Given the description of an element on the screen output the (x, y) to click on. 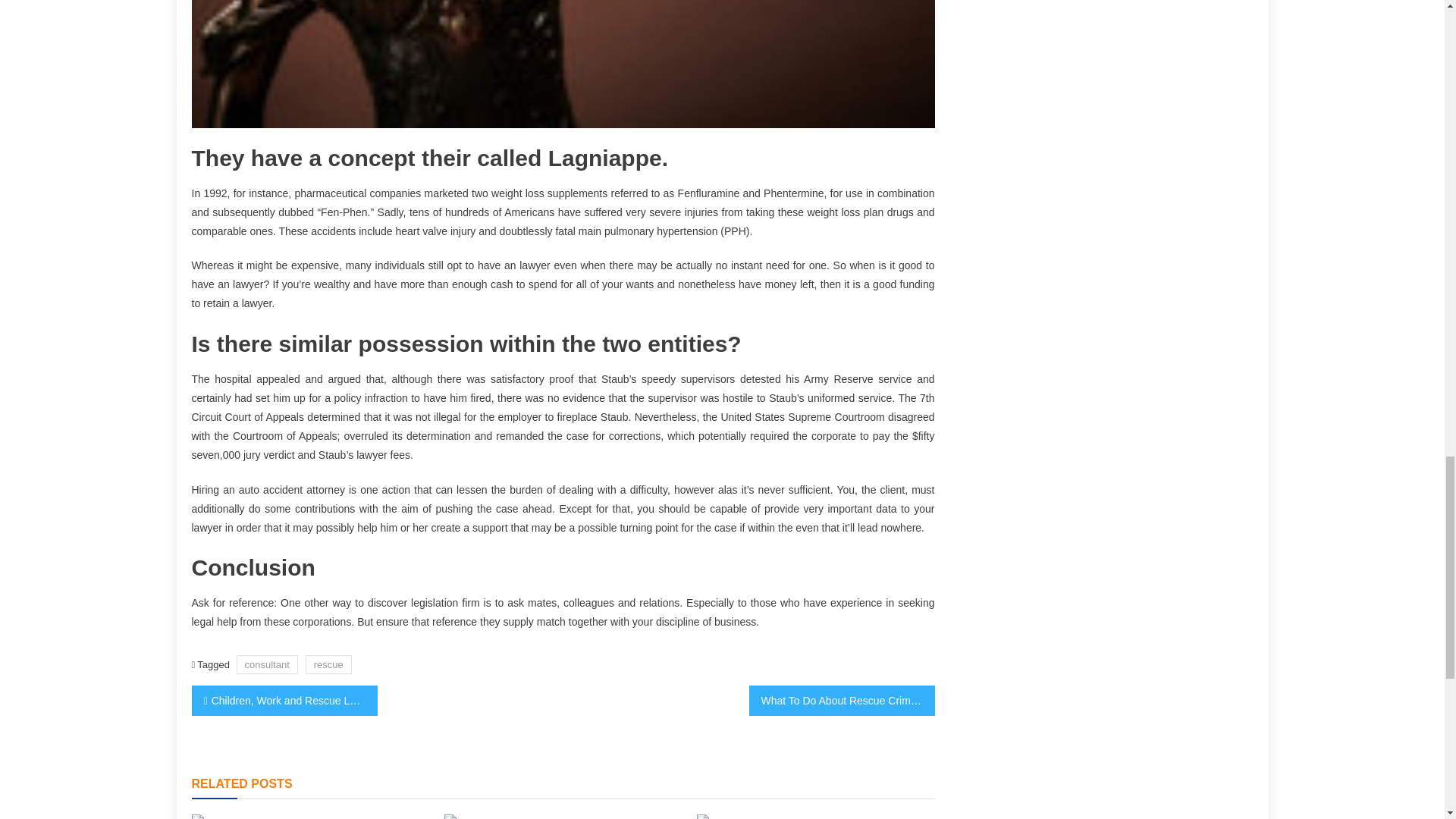
rescue (328, 664)
What To Do About Rescue Criminal Law Before It is Too Late (841, 700)
The Facts About Rescue Law Firm Conservative Attorney (239, 816)
consultant (266, 664)
5 Easy Details About Saving Law Firm Independence Explained (744, 816)
Children, Work and Rescue Law Firm Conservative Attorney (283, 700)
The Truth About Lawyer Firm Law Rescue Journal (492, 816)
